Given the description of an element on the screen output the (x, y) to click on. 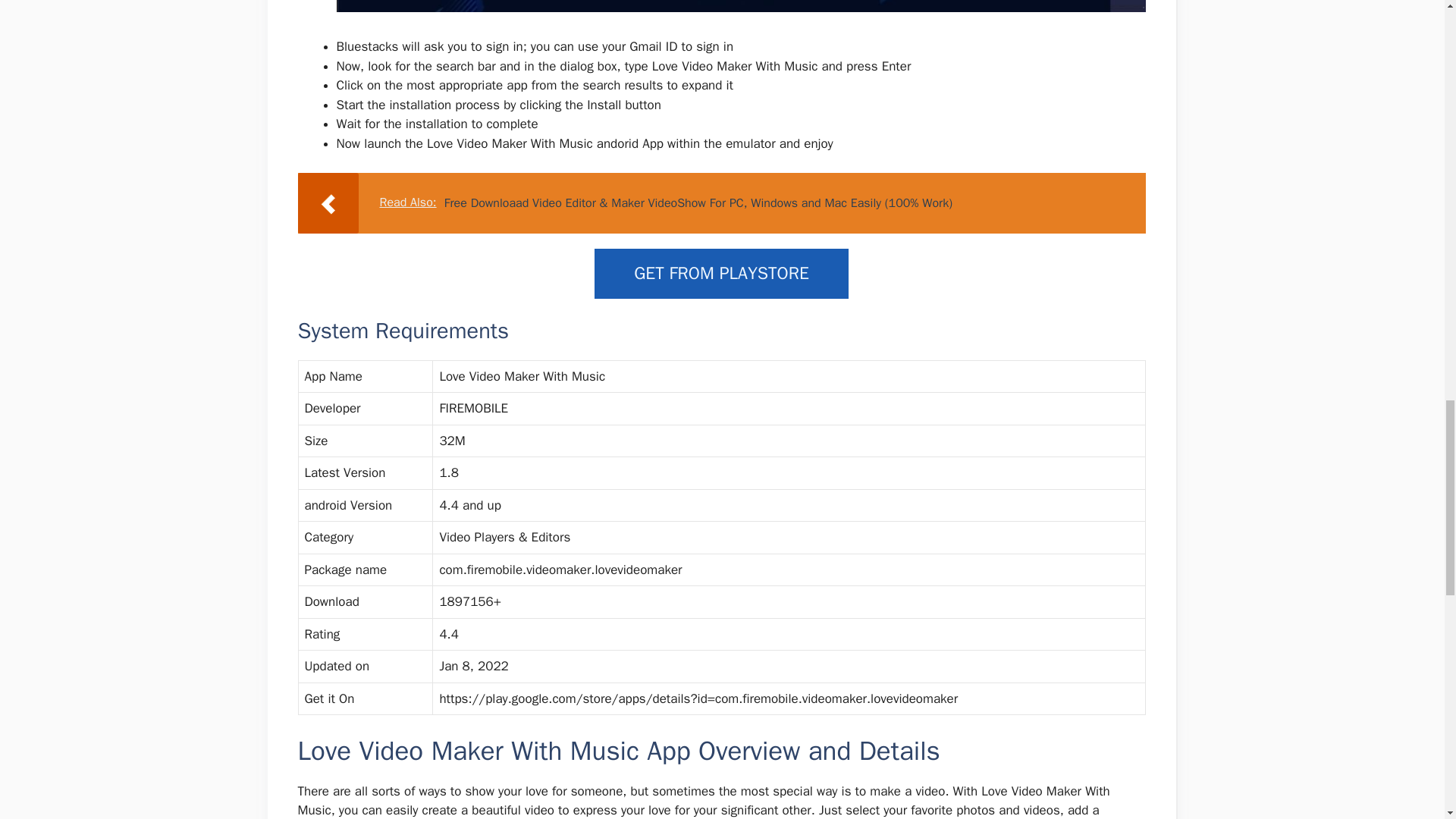
GET FROM PLAYSTORE (721, 273)
GET FROM PLAYSTORE (721, 273)
